Given the description of an element on the screen output the (x, y) to click on. 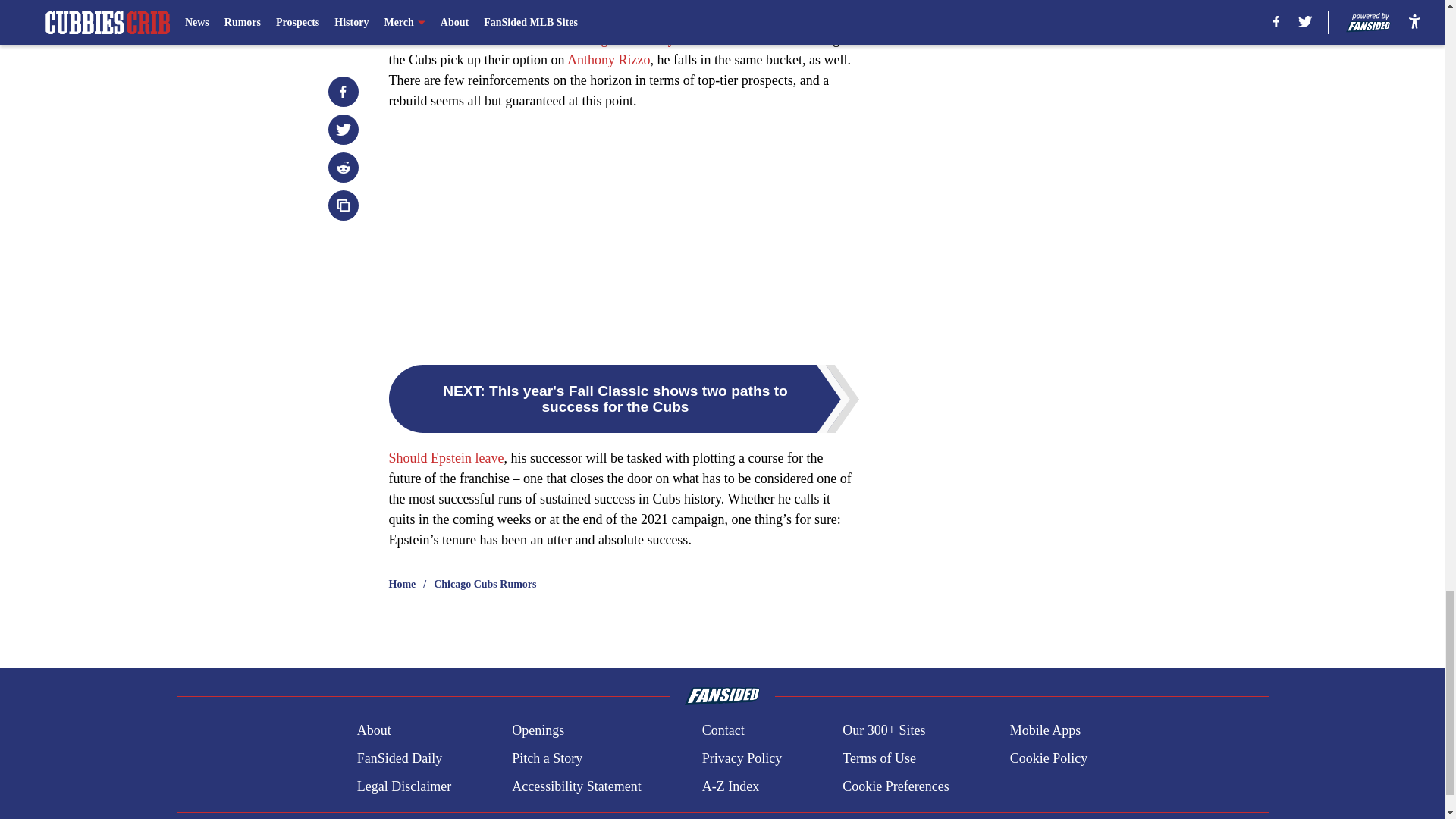
Chicago Cubs Rumors (484, 584)
Javier Baez (504, 38)
Kyle Schwarber (608, 28)
is entering their final year of team control (663, 38)
Anthony Rizzo (608, 59)
Home (401, 584)
Should Epstein leave (445, 458)
Kris Bryant (765, 18)
